Given the description of an element on the screen output the (x, y) to click on. 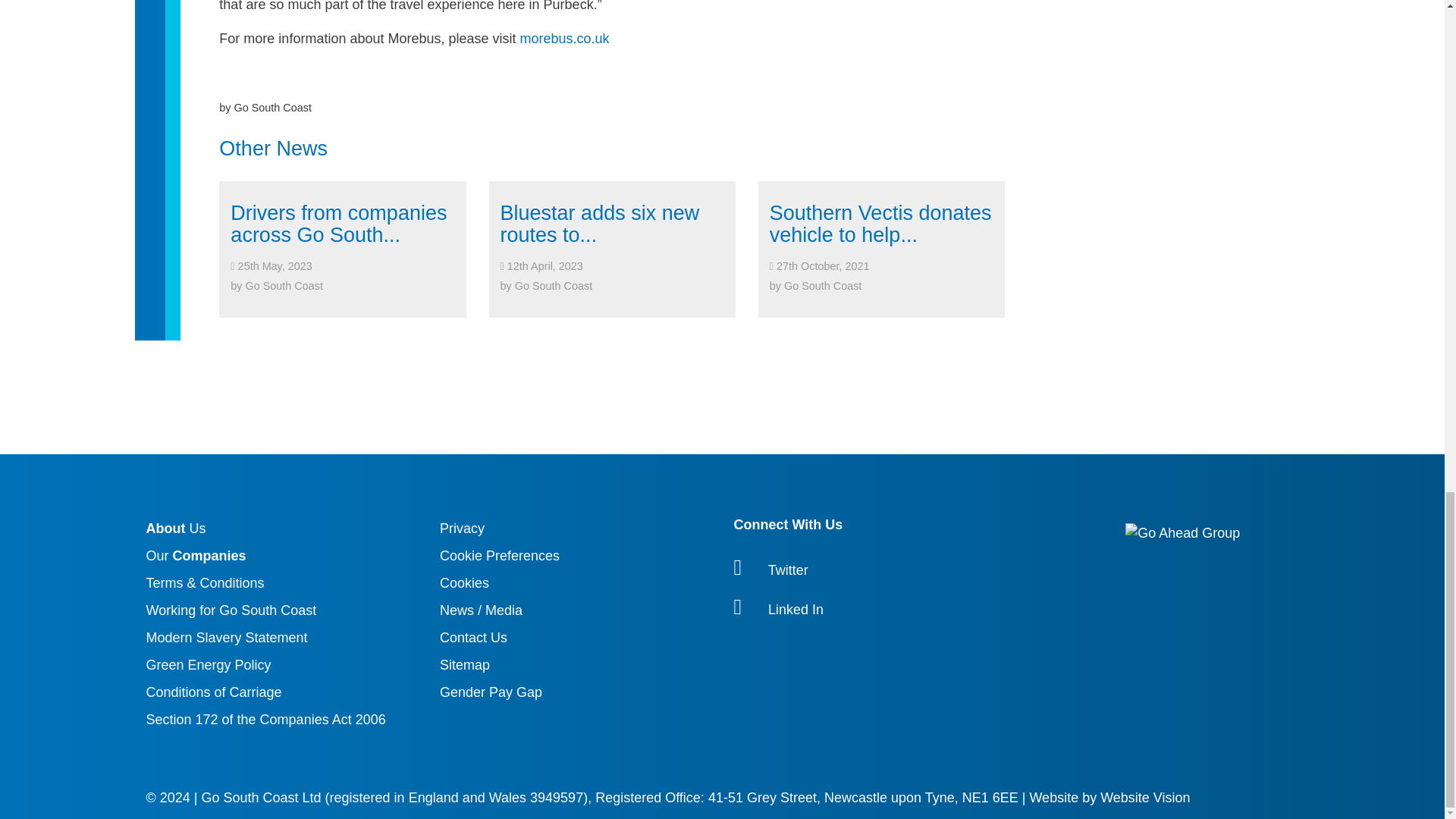
Working for Go South Coast (230, 610)
Contact Us (472, 637)
Conditions of Carriage (213, 692)
Twitter (918, 568)
Cookies (464, 582)
About Us (175, 528)
Our Companies (195, 555)
Linked In (918, 608)
Green Energy Policy (207, 664)
Privacy (461, 528)
Sitemap (464, 664)
Cookie Preferences (499, 555)
